Given the description of an element on the screen output the (x, y) to click on. 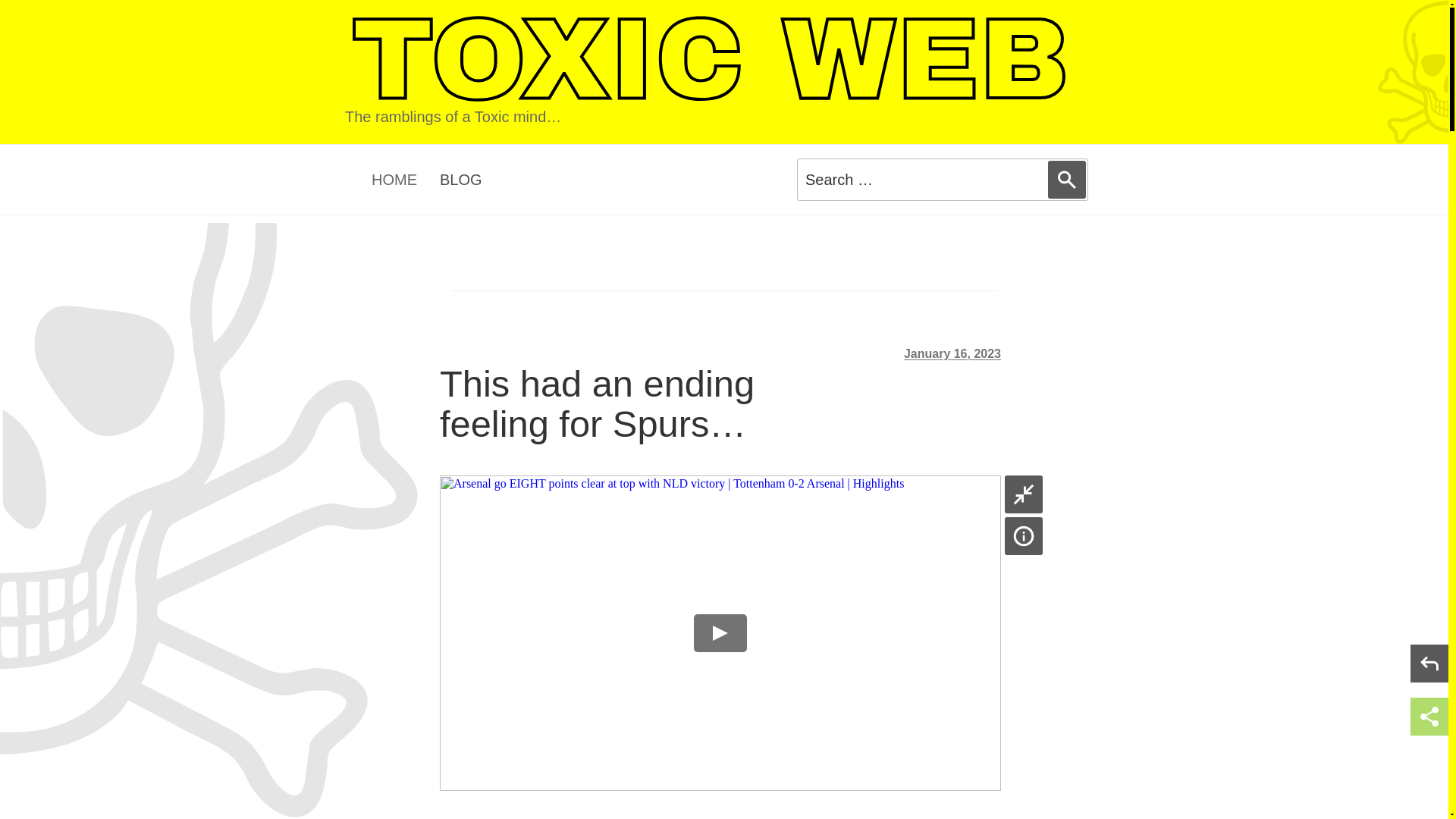
Toxic Web (709, 59)
Toxic Web (709, 59)
minimise video (1023, 494)
HOME (393, 179)
January 16, 2023 (952, 353)
Search (1067, 179)
video info (1023, 535)
BLOG (460, 179)
